Given the description of an element on the screen output the (x, y) to click on. 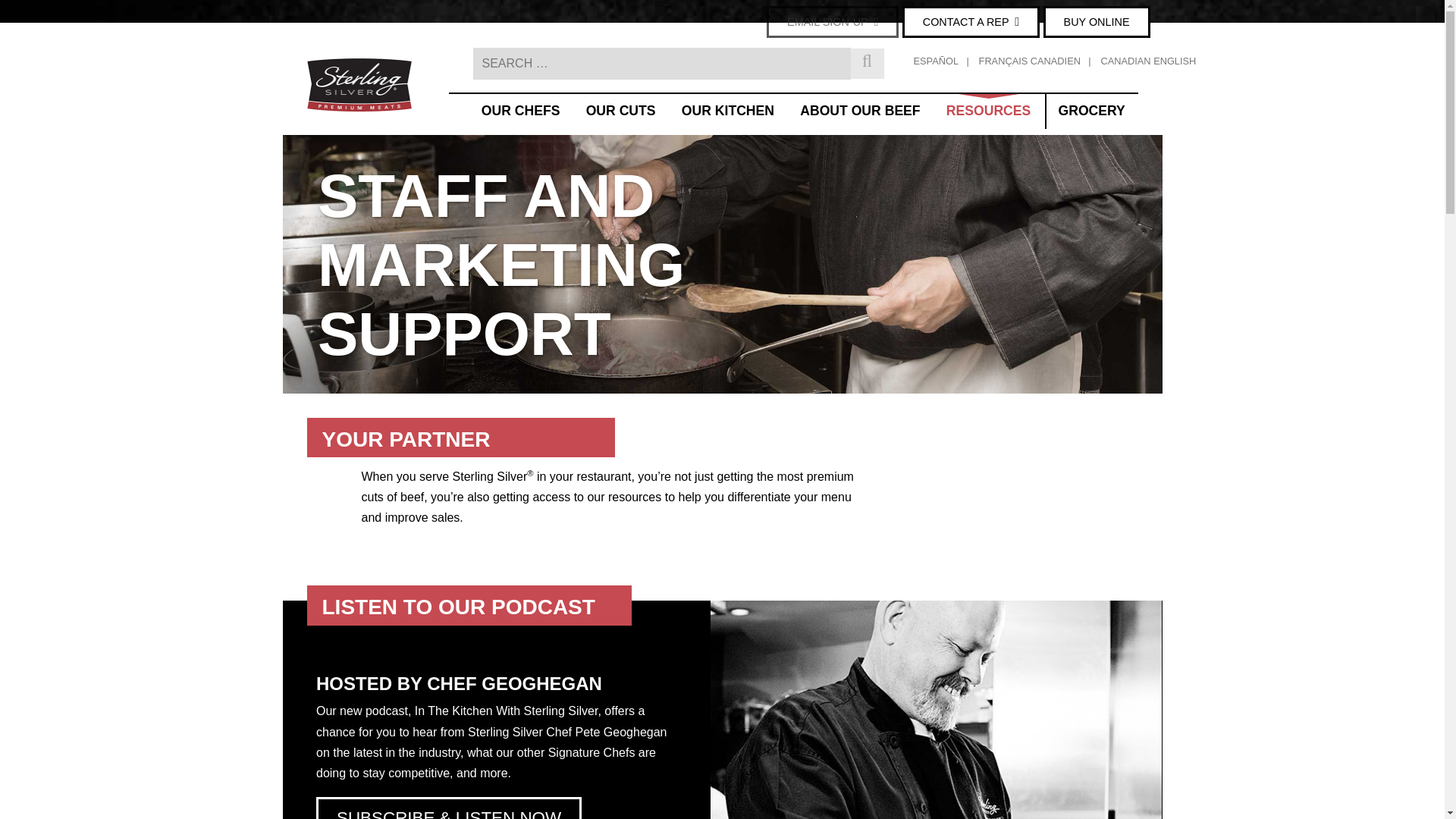
BUY ONLINE (1096, 21)
GROCERY (1091, 111)
EMAIL SIGN-UP (832, 21)
OUR KITCHEN (727, 111)
CONTACT A REP (970, 21)
CANADIAN ENGLISH (1148, 62)
OUR CUTS (620, 111)
RESOURCES (988, 111)
ABOUT OUR BEEF (859, 111)
OUR CHEFS (521, 111)
